Given the description of an element on the screen output the (x, y) to click on. 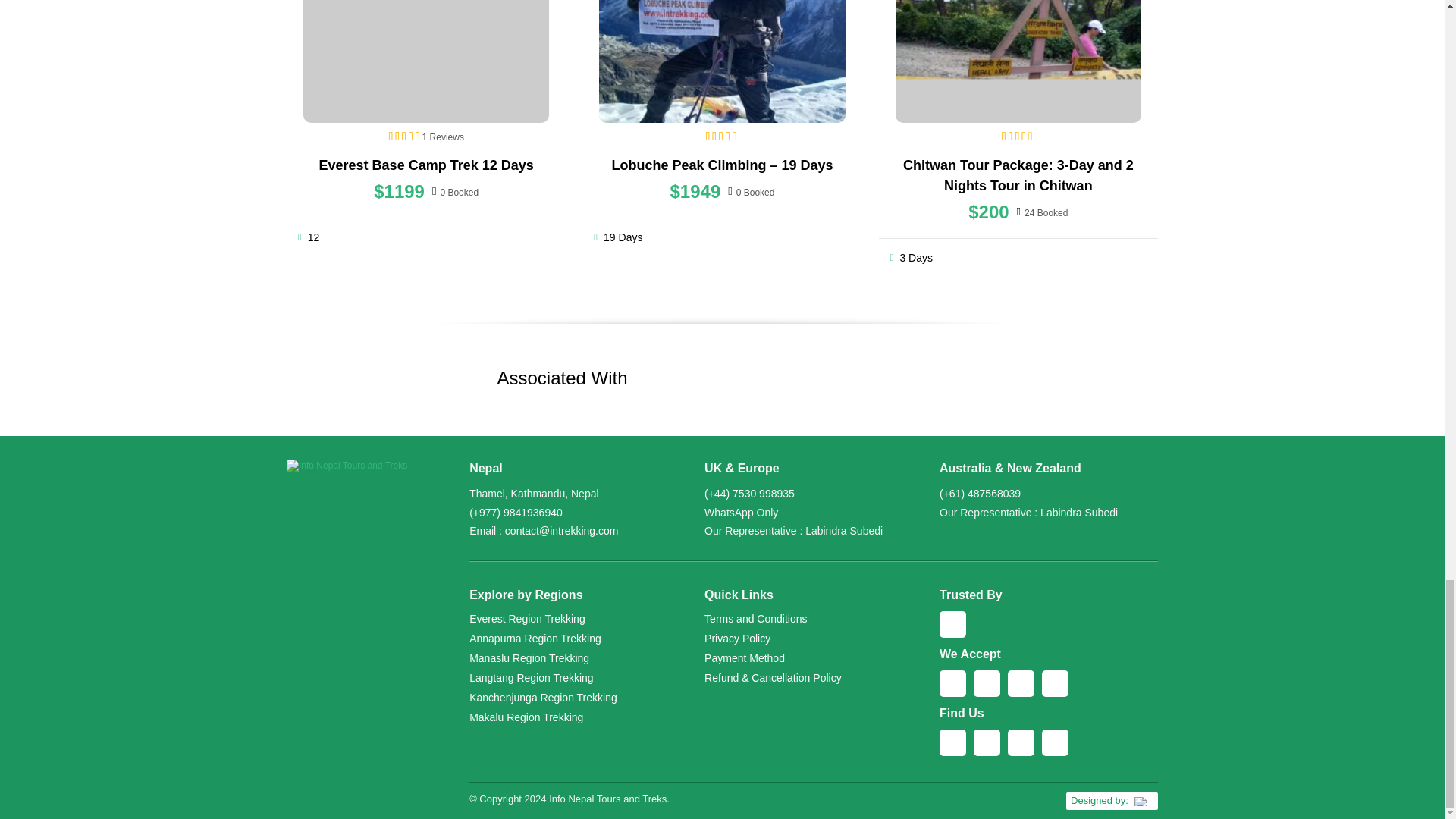
Wishers Tech Pvt. Ltd. (1111, 800)
